Given the description of an element on the screen output the (x, y) to click on. 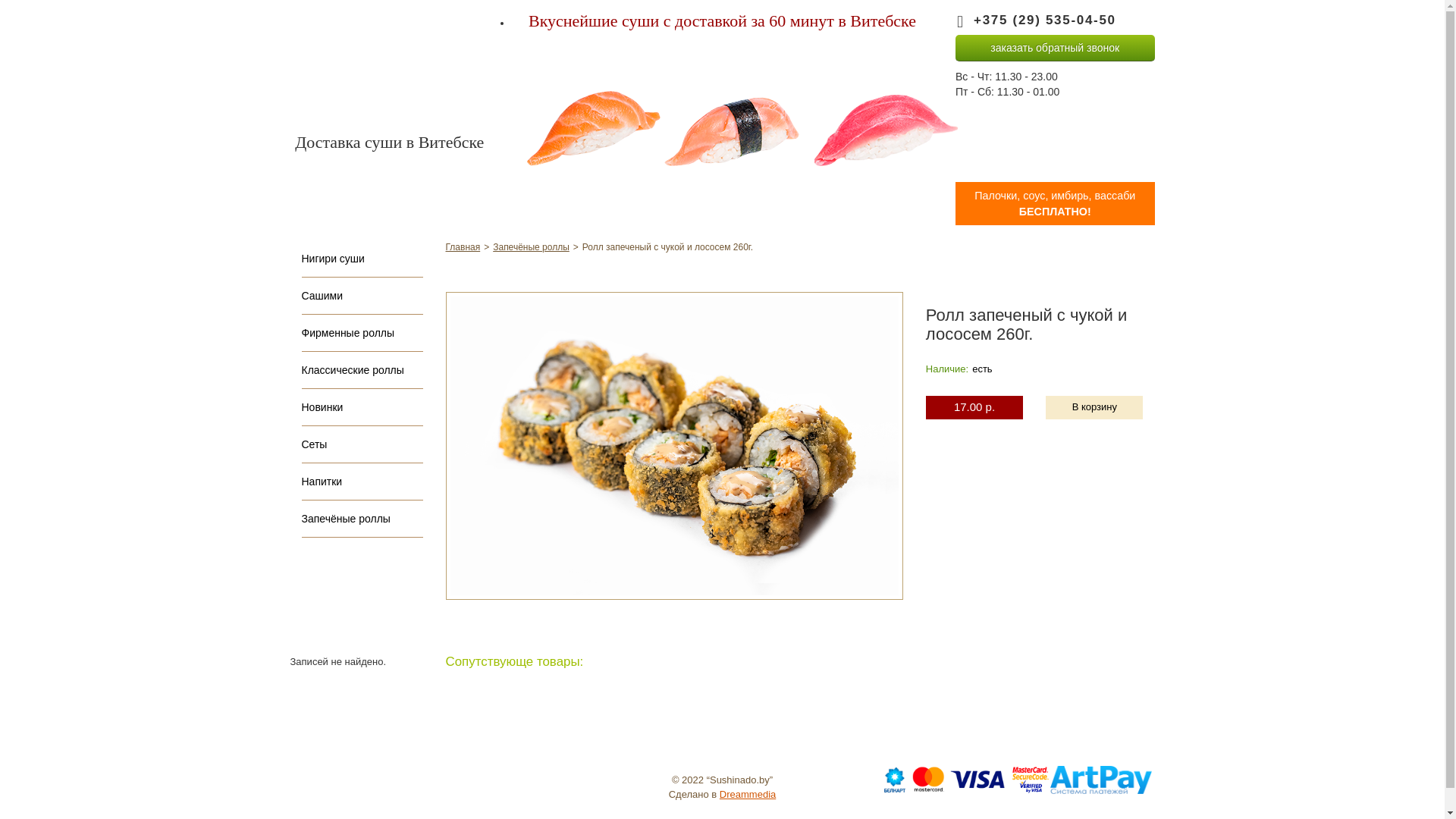
Dreammedia Element type: text (747, 794)
+375 (29) 535-04-50 Element type: text (1044, 19)
